Given the description of an element on the screen output the (x, y) to click on. 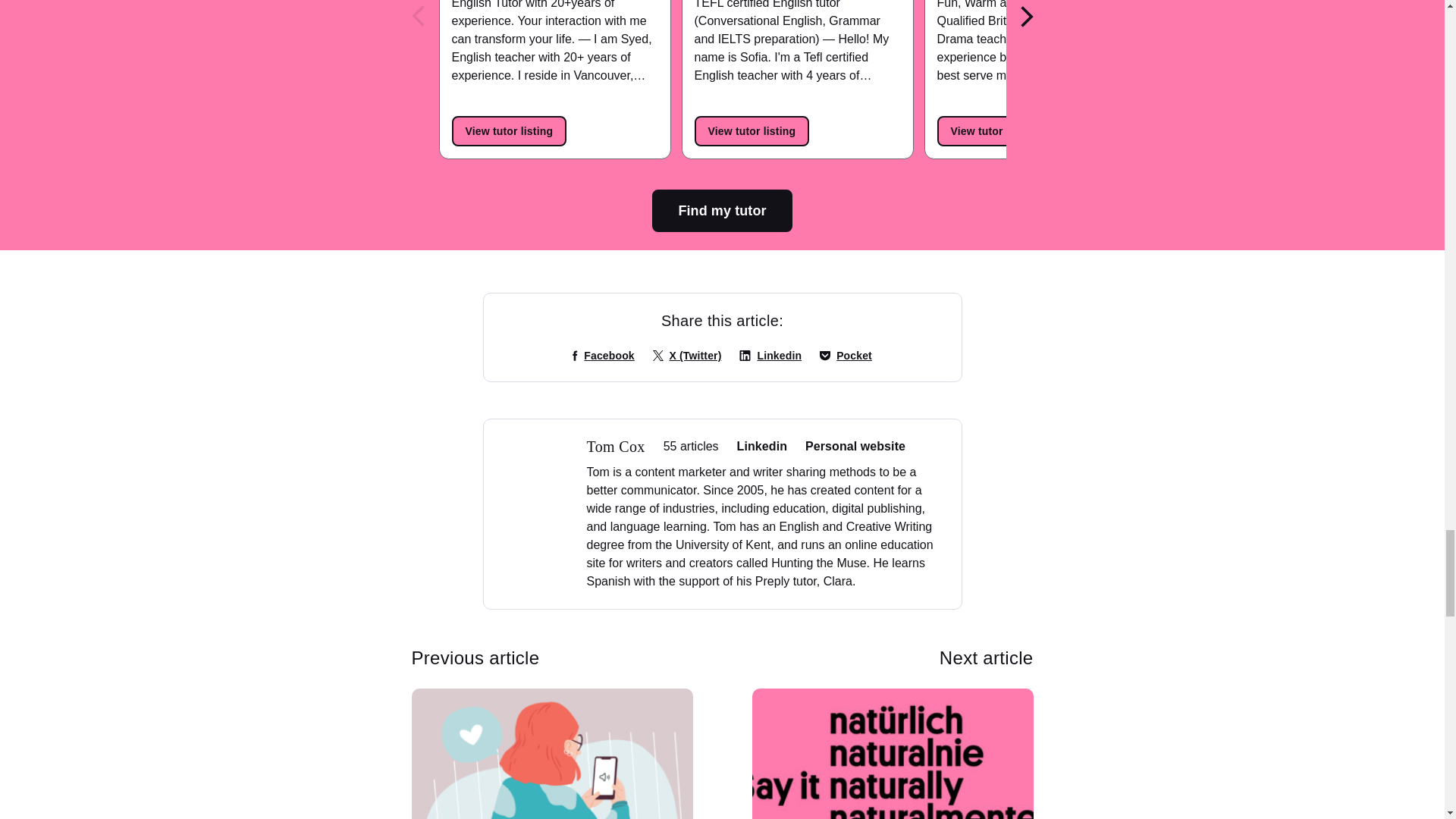
Pocket (845, 355)
Facebook (603, 355)
Linkedin (770, 355)
